Given the description of an element on the screen output the (x, y) to click on. 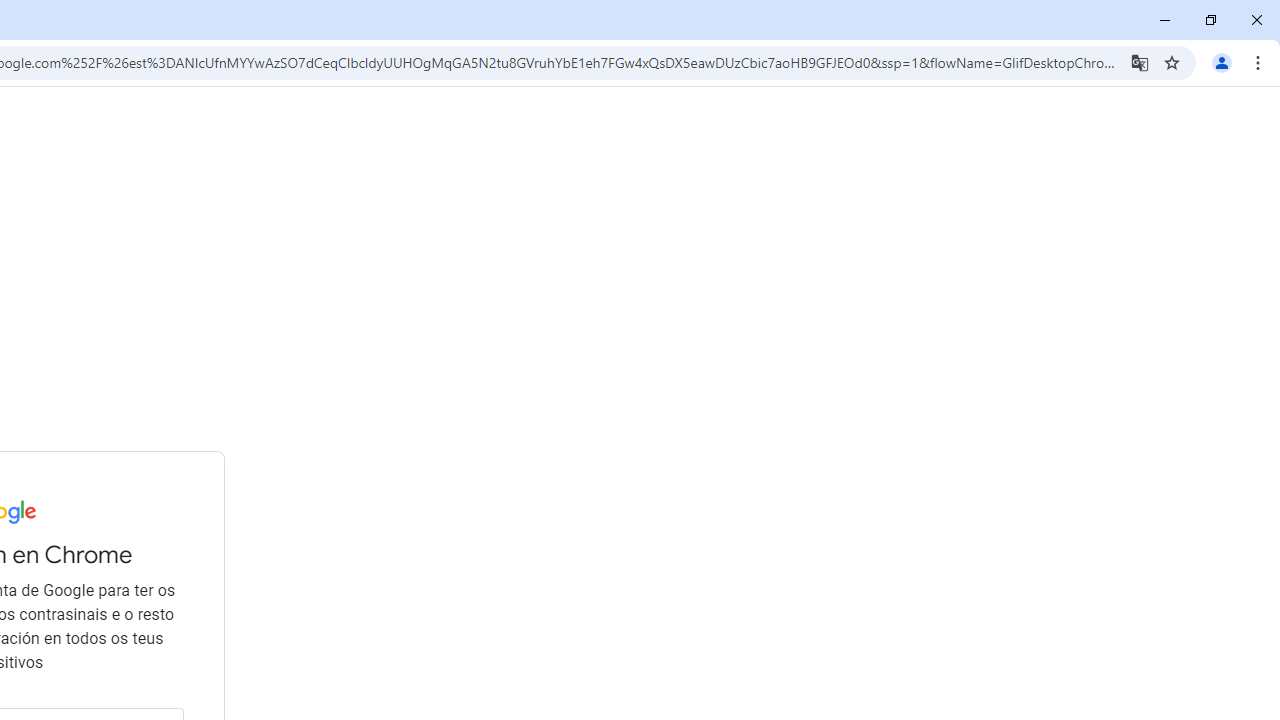
Restore (1210, 20)
Minimize (1165, 20)
Chrome (1260, 62)
You (1221, 62)
Translate this page (1139, 62)
Close (1256, 20)
Bookmark this tab (1171, 62)
